Given the description of an element on the screen output the (x, y) to click on. 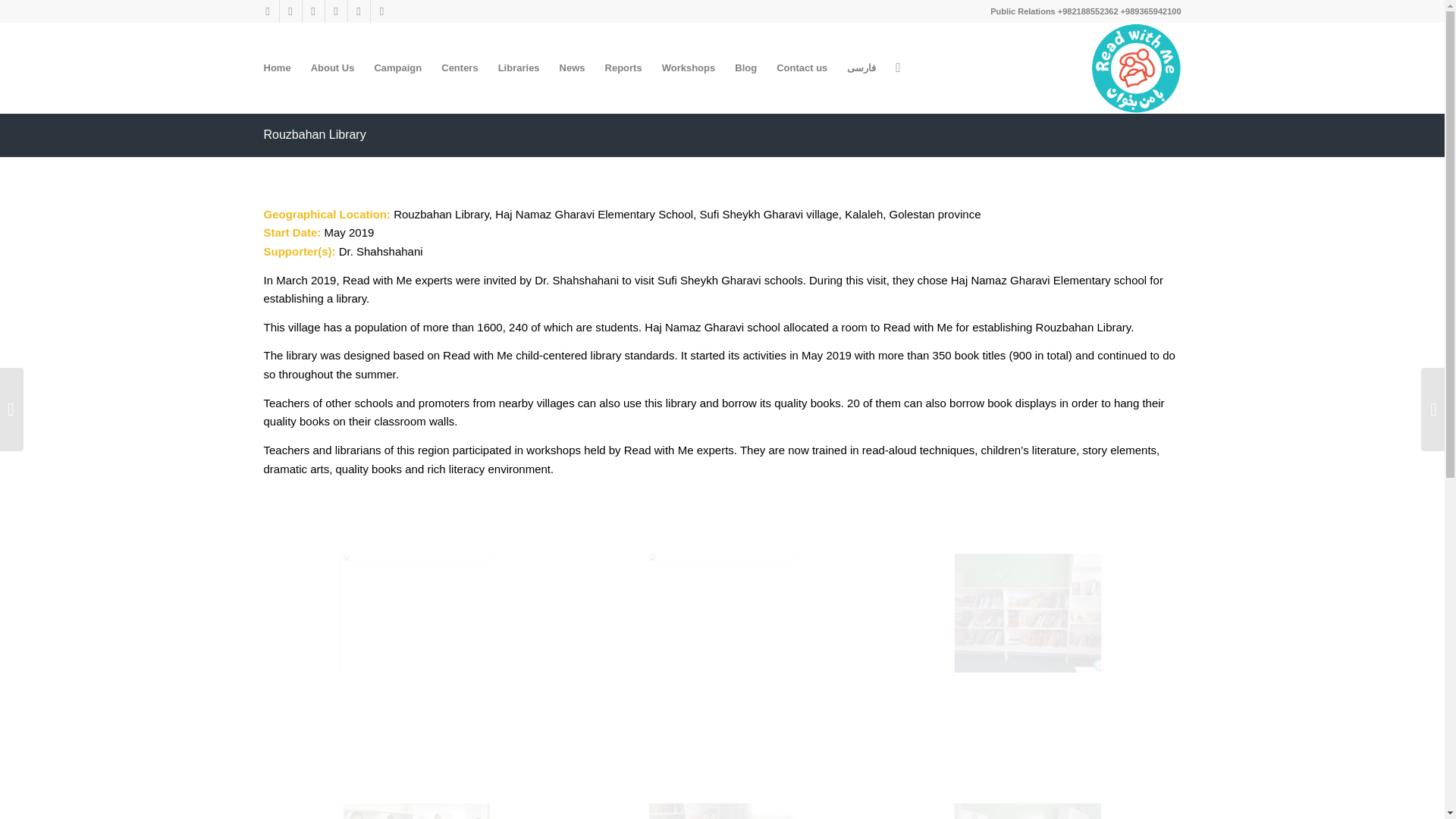
Telegram (267, 11)
Facebook (358, 11)
Instagram (290, 11)
Aparat (312, 11)
Youtube (335, 11)
Permanent Link: Rouzbahan Library (314, 133)
rwm-logo-website-small (1135, 67)
Mail (381, 11)
